Given the description of an element on the screen output the (x, y) to click on. 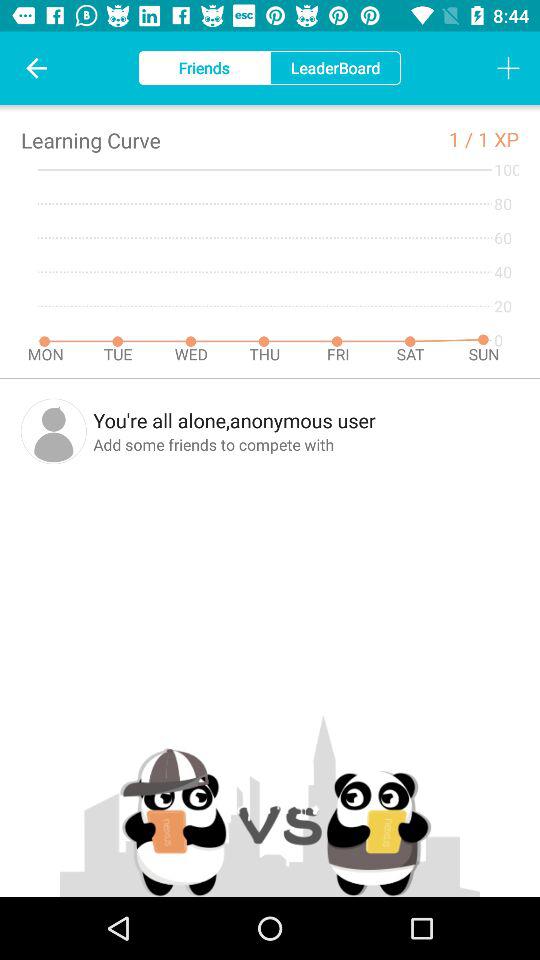
launch the item next to 1 / (498, 138)
